Given the description of an element on the screen output the (x, y) to click on. 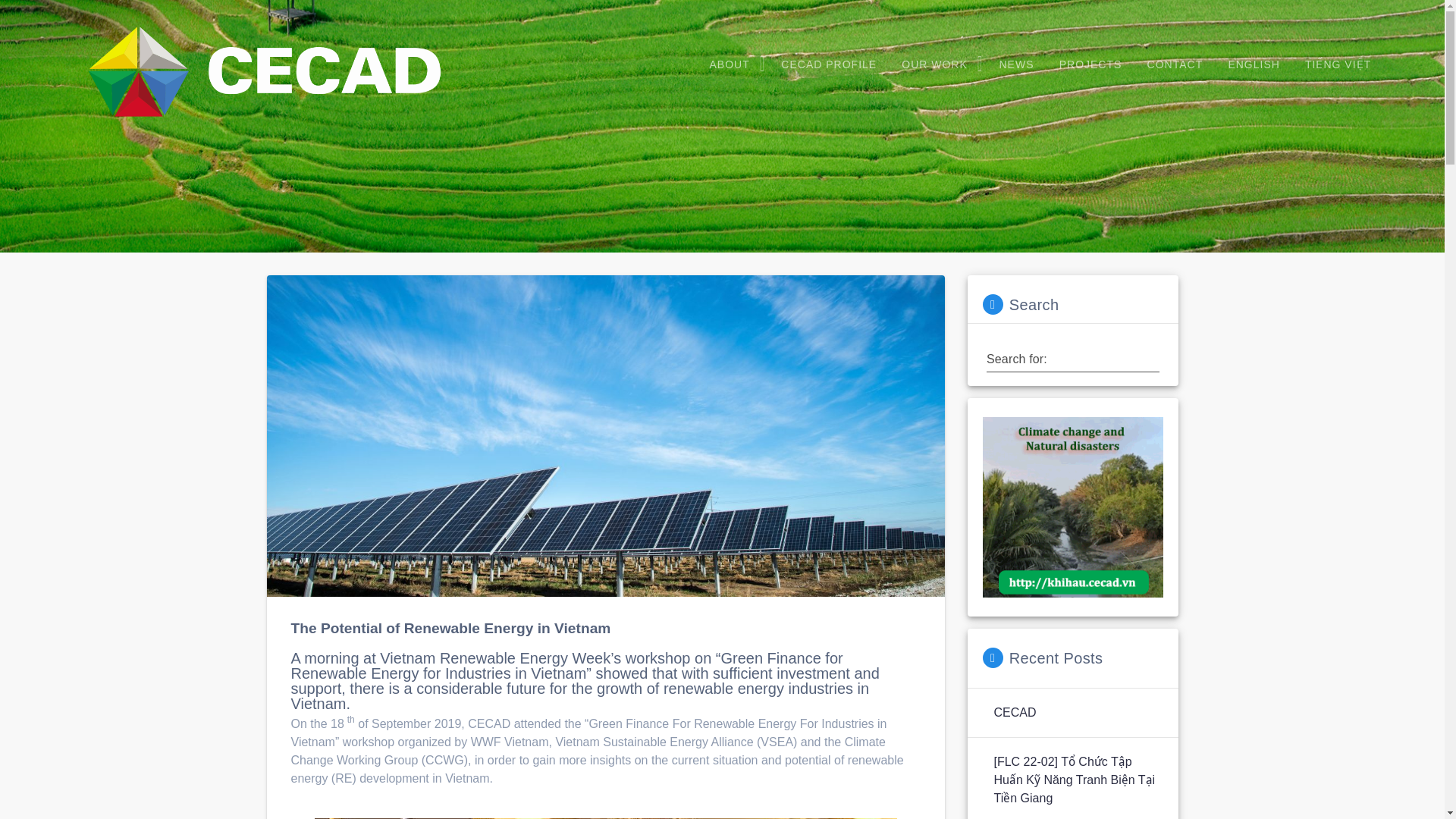
ENGLISH (1254, 64)
ABOUT (732, 64)
CECAD PROFILE (828, 64)
CONTACT (1174, 64)
PROJECTS (1090, 64)
OUR WORK (938, 64)
CECAD (1013, 712)
NEWS (1016, 64)
